Given the description of an element on the screen output the (x, y) to click on. 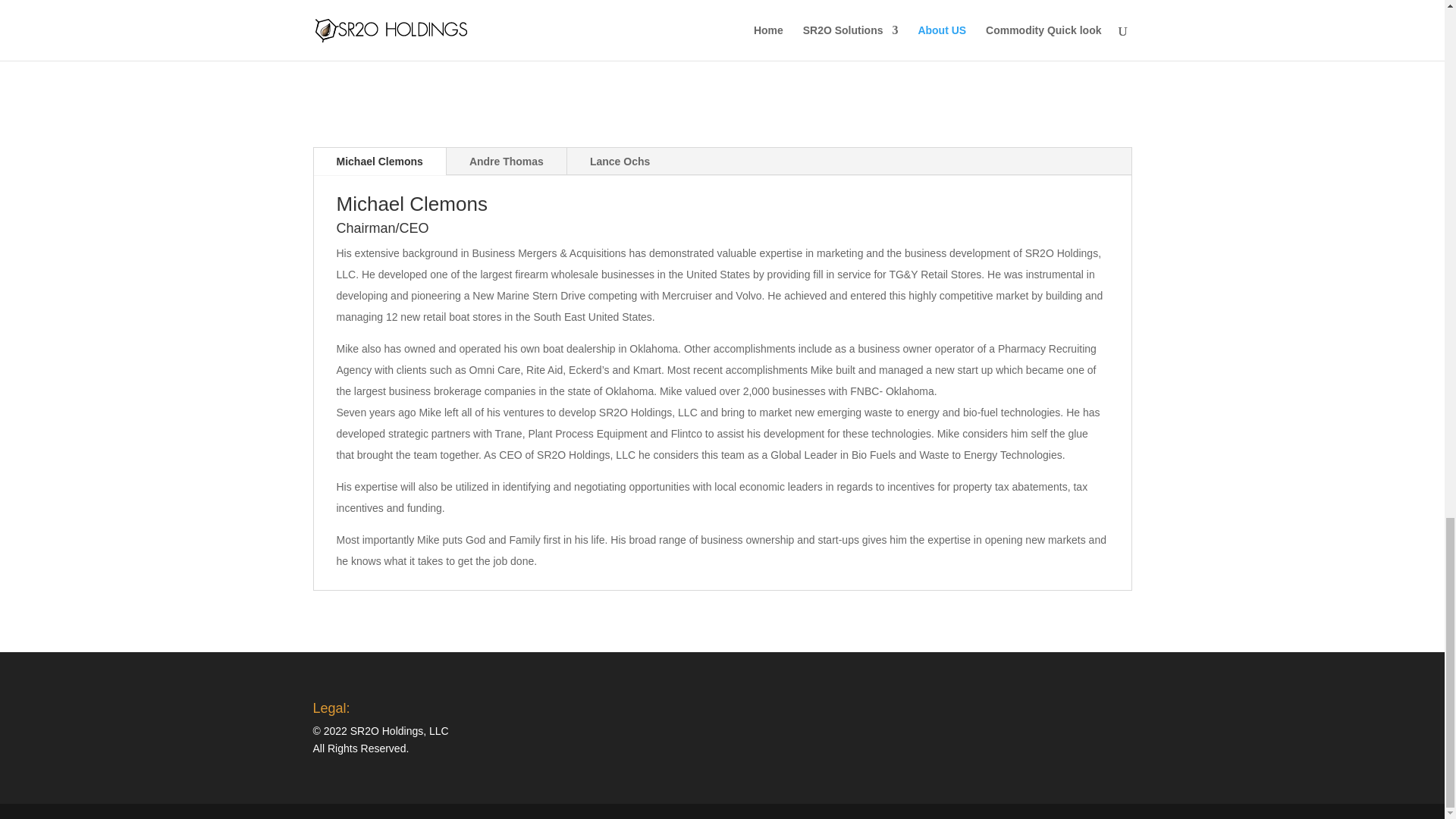
Lance Ochs (619, 161)
Michael Clemons (379, 161)
Andre Thomas (506, 161)
Be a part of a city on the rise: Oklahoma City. (614, 9)
